Given the description of an element on the screen output the (x, y) to click on. 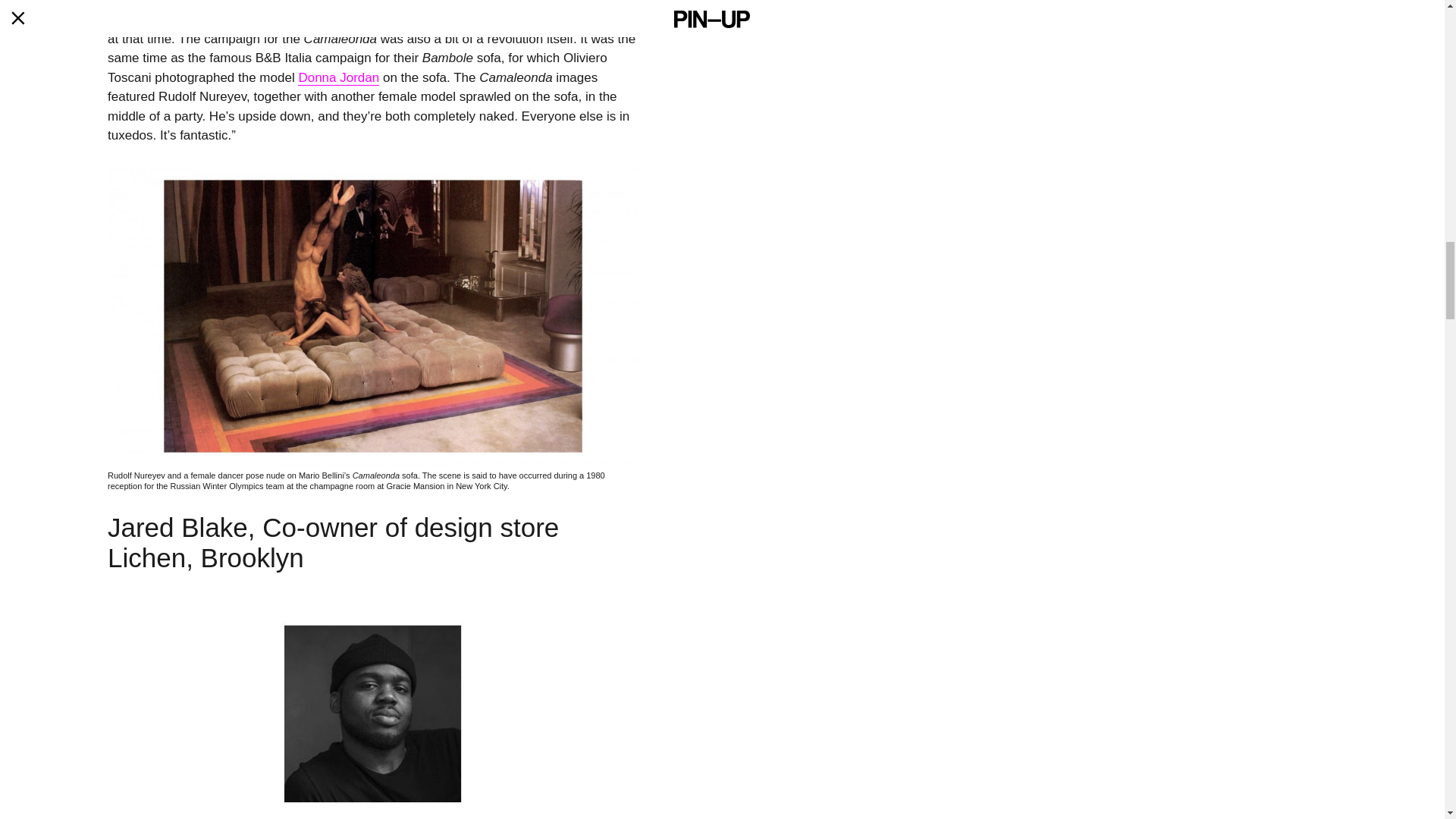
Donna Jordan (338, 77)
